Given the description of an element on the screen output the (x, y) to click on. 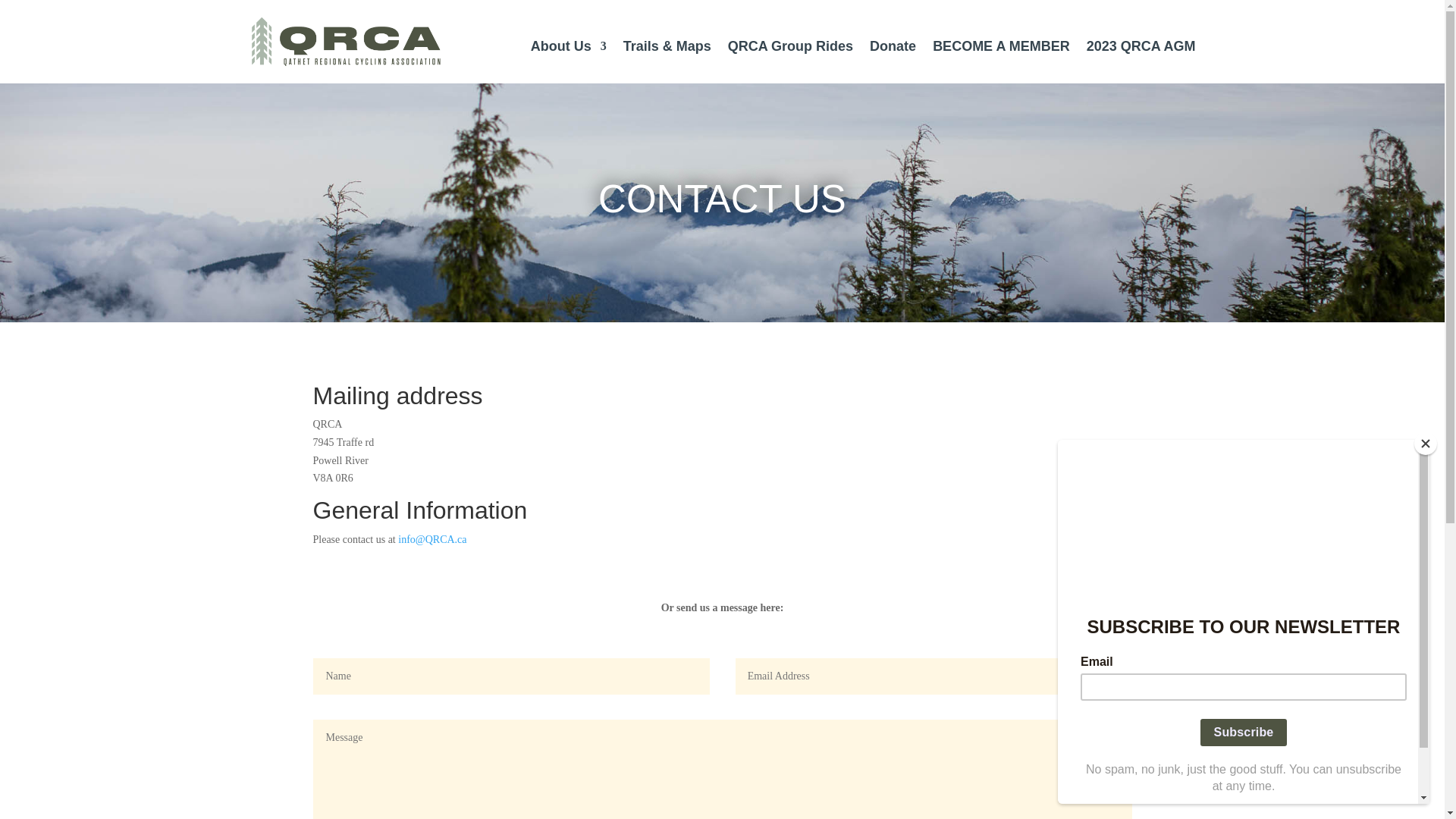
BECOME A MEMBER Element type: text (1001, 48)
About Us Element type: text (568, 48)
qrca-web-01 Element type: hover (345, 41)
2023 QRCA AGM Element type: text (1140, 48)
QRCA Group Rides Element type: text (790, 48)
info@QRCA.ca Element type: text (432, 539)
Donate Element type: text (892, 48)
Trails & Maps Element type: text (667, 48)
